Given the description of an element on the screen output the (x, y) to click on. 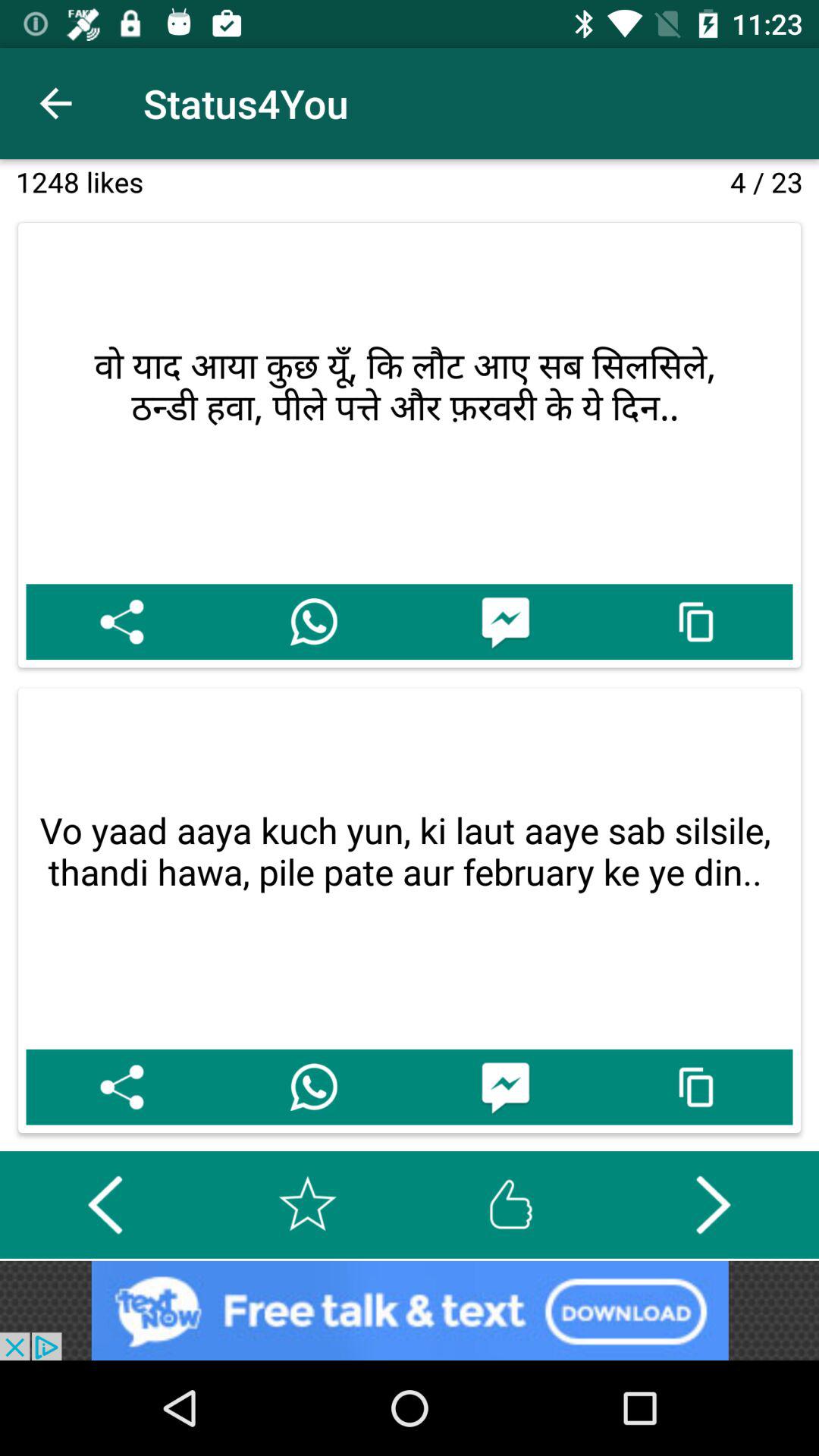
like this status (509, 1204)
